Given the description of an element on the screen output the (x, y) to click on. 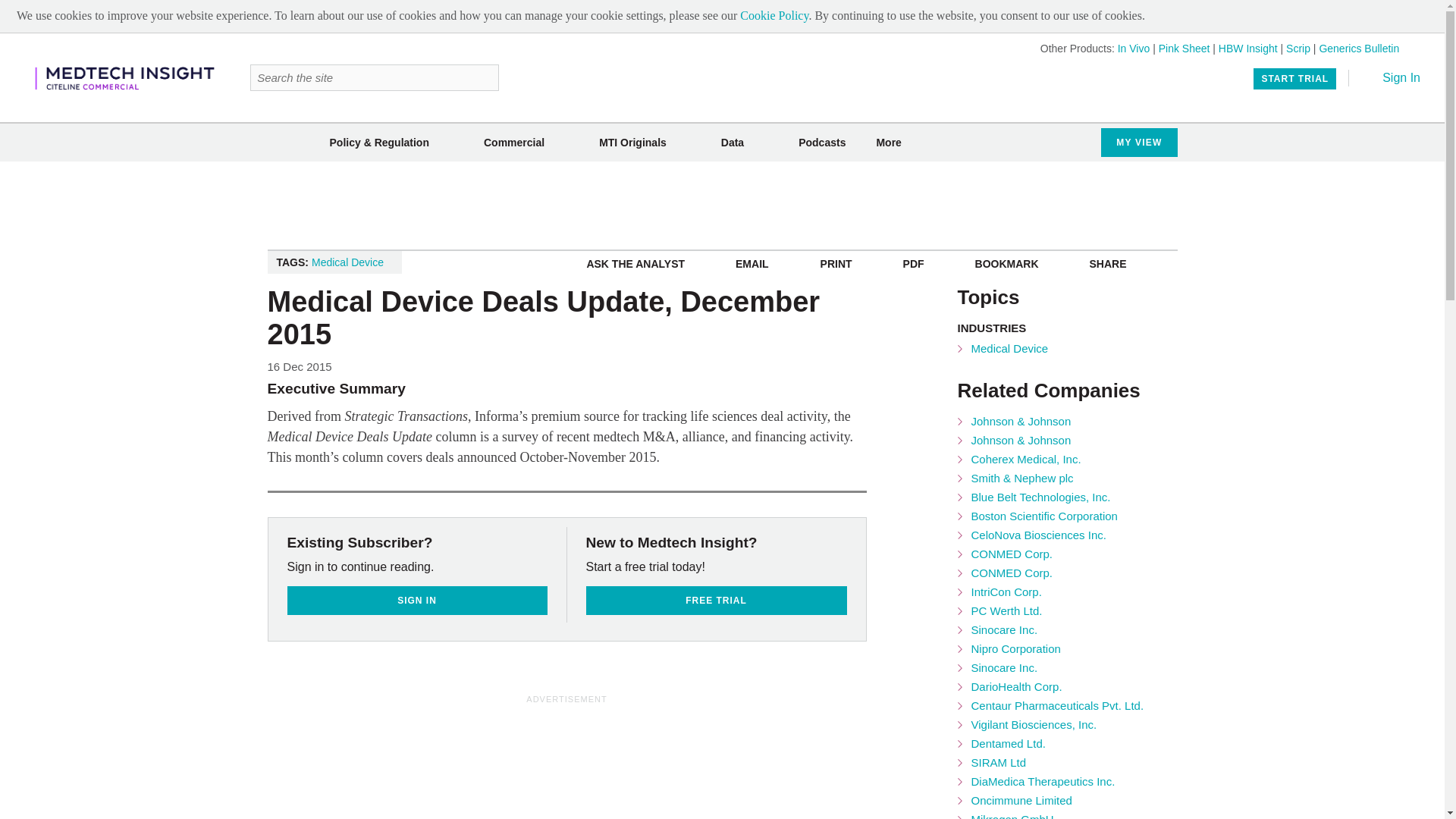
3rd party ad content (721, 205)
Generics Bulletin (1359, 48)
START TRIAL (1294, 78)
HBW Insight (1248, 48)
In Vivo (1134, 48)
Commercial (513, 142)
3rd party ad content (634, 740)
Scrip (1297, 48)
Cookie Policy (773, 15)
Pink Sheet (1183, 48)
Sign In (1391, 77)
